Given the description of an element on the screen output the (x, y) to click on. 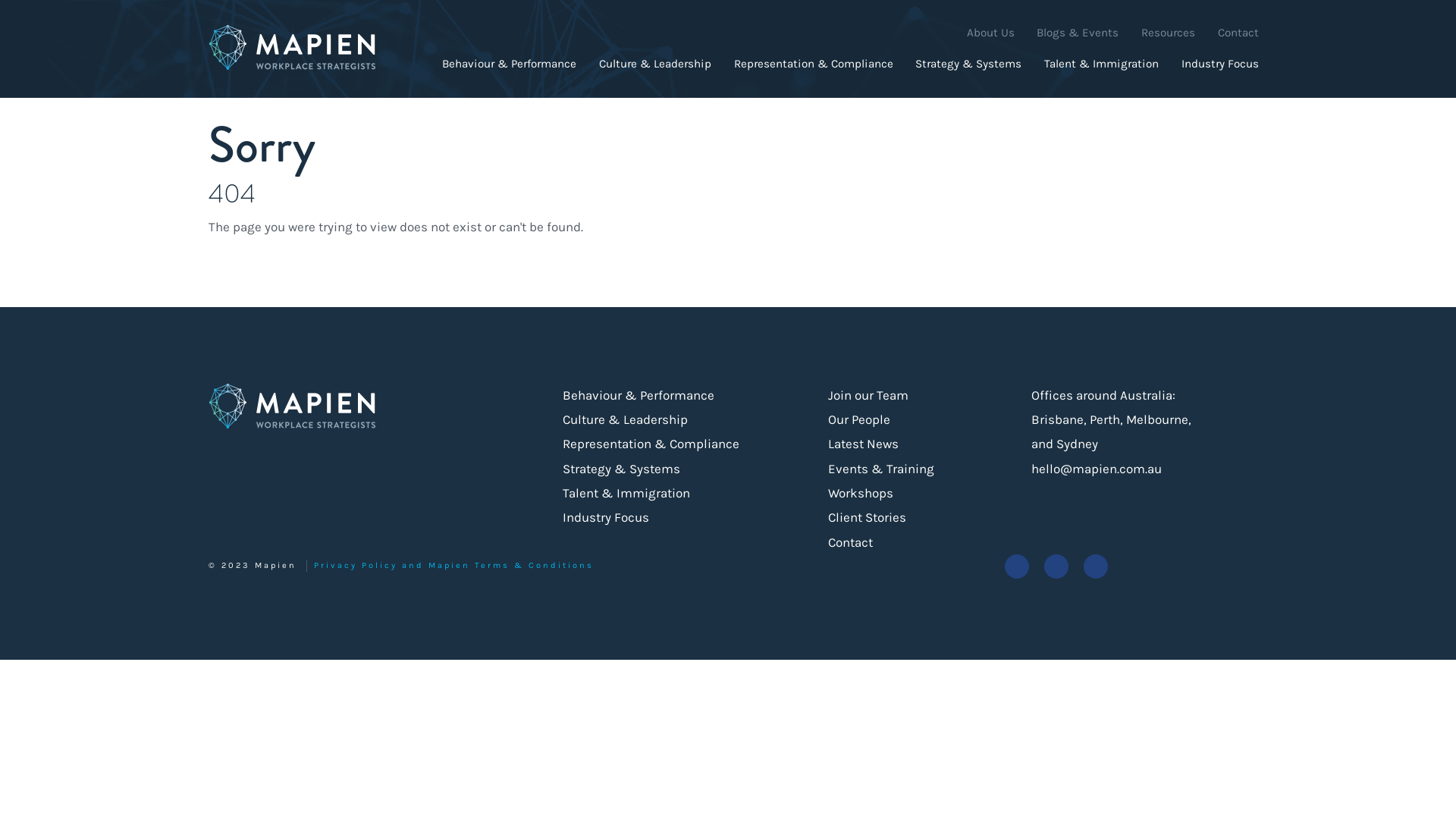
Culture & Leadership Element type: text (624, 419)
hello@mapien.com.au Element type: text (1096, 468)
Strategy & Systems Element type: text (968, 62)
Our People Element type: text (859, 419)
Culture & Leadership Element type: text (655, 62)
Blogs & Events Element type: text (1077, 32)
Contact Element type: text (1237, 32)
Behaviour & Performance Element type: text (509, 62)
Privacy Policy and Mapien Terms & Conditions Element type: text (453, 565)
Contact Element type: text (850, 542)
Events & Training Workshops Element type: text (905, 480)
Behaviour & Performance Element type: text (638, 394)
Representation & Compliance Element type: text (650, 443)
Resources Element type: text (1168, 32)
Client Stories Element type: text (867, 517)
Strategy & Systems Element type: text (621, 468)
Join our Team Element type: text (868, 394)
About Us Element type: text (989, 32)
Talent & Immigration Element type: text (626, 492)
Industry Focus Element type: text (605, 517)
Latest News Element type: text (863, 443)
Talent & Immigration Element type: text (1101, 62)
Representation & Compliance Element type: text (813, 62)
Industry Focus Element type: text (1219, 62)
